Given the description of an element on the screen output the (x, y) to click on. 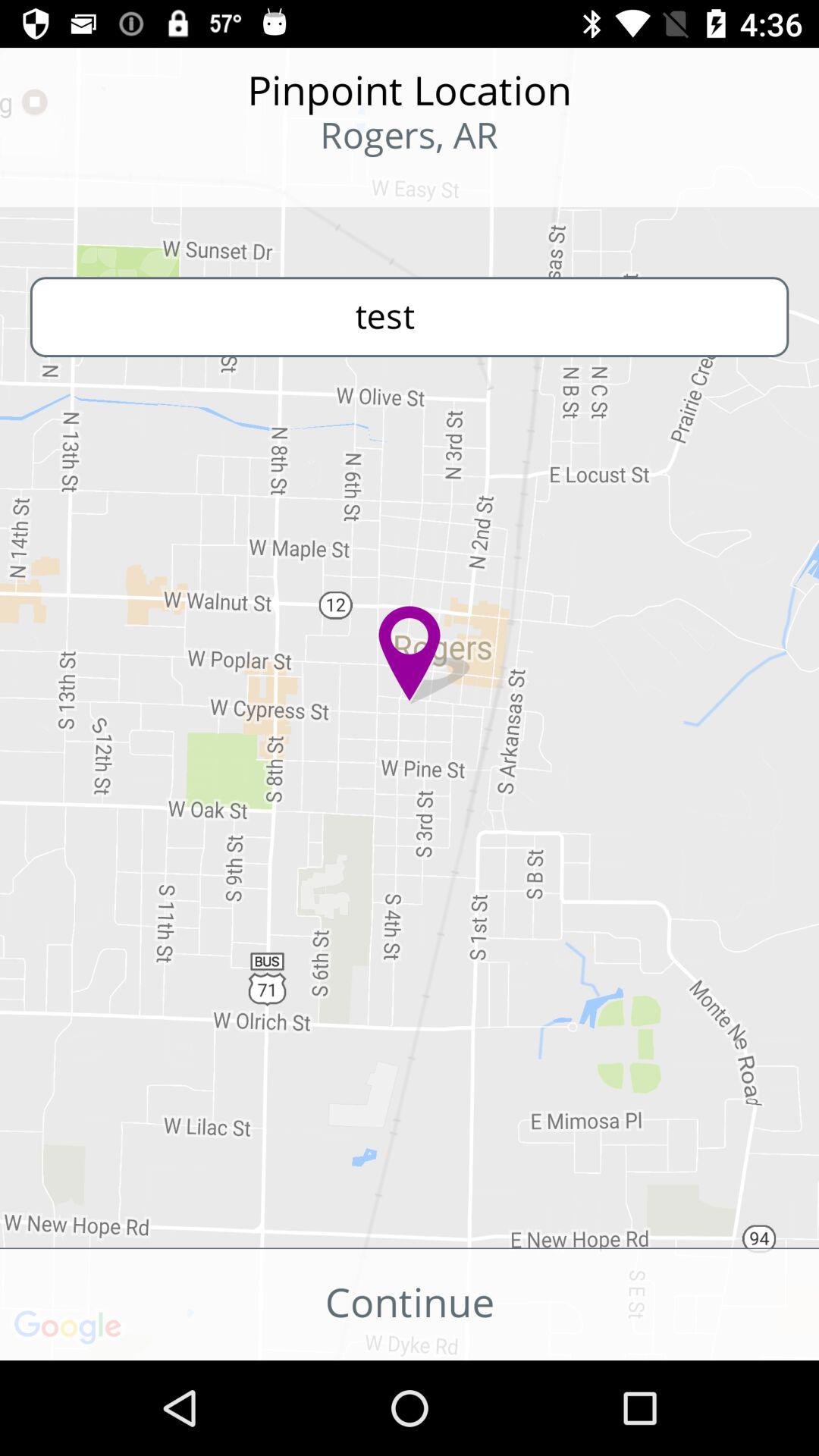
turn on icon below the get more accurate icon (409, 1304)
